Given the description of an element on the screen output the (x, y) to click on. 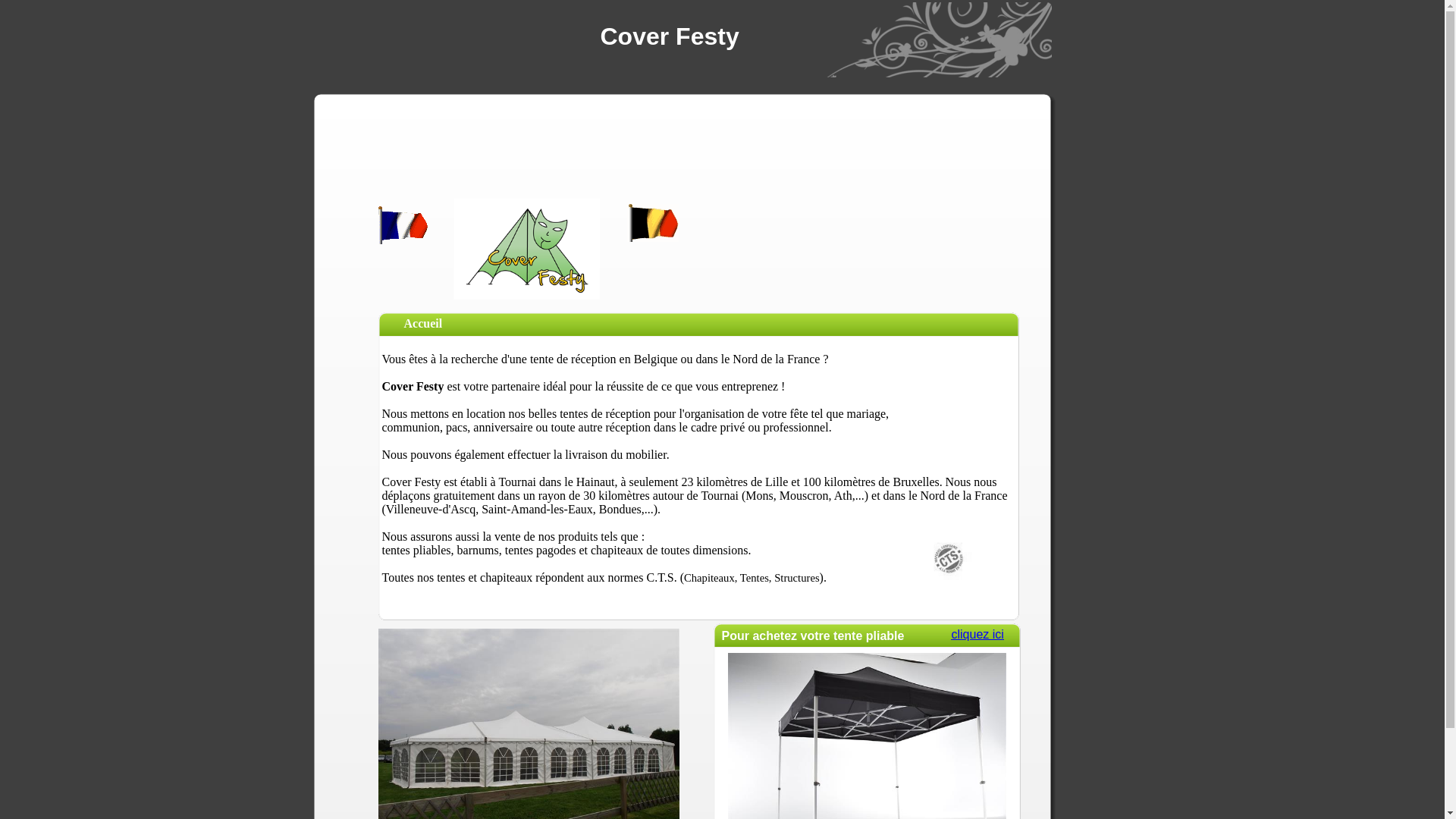
cliquez ici Element type: text (976, 633)
